Given the description of an element on the screen output the (x, y) to click on. 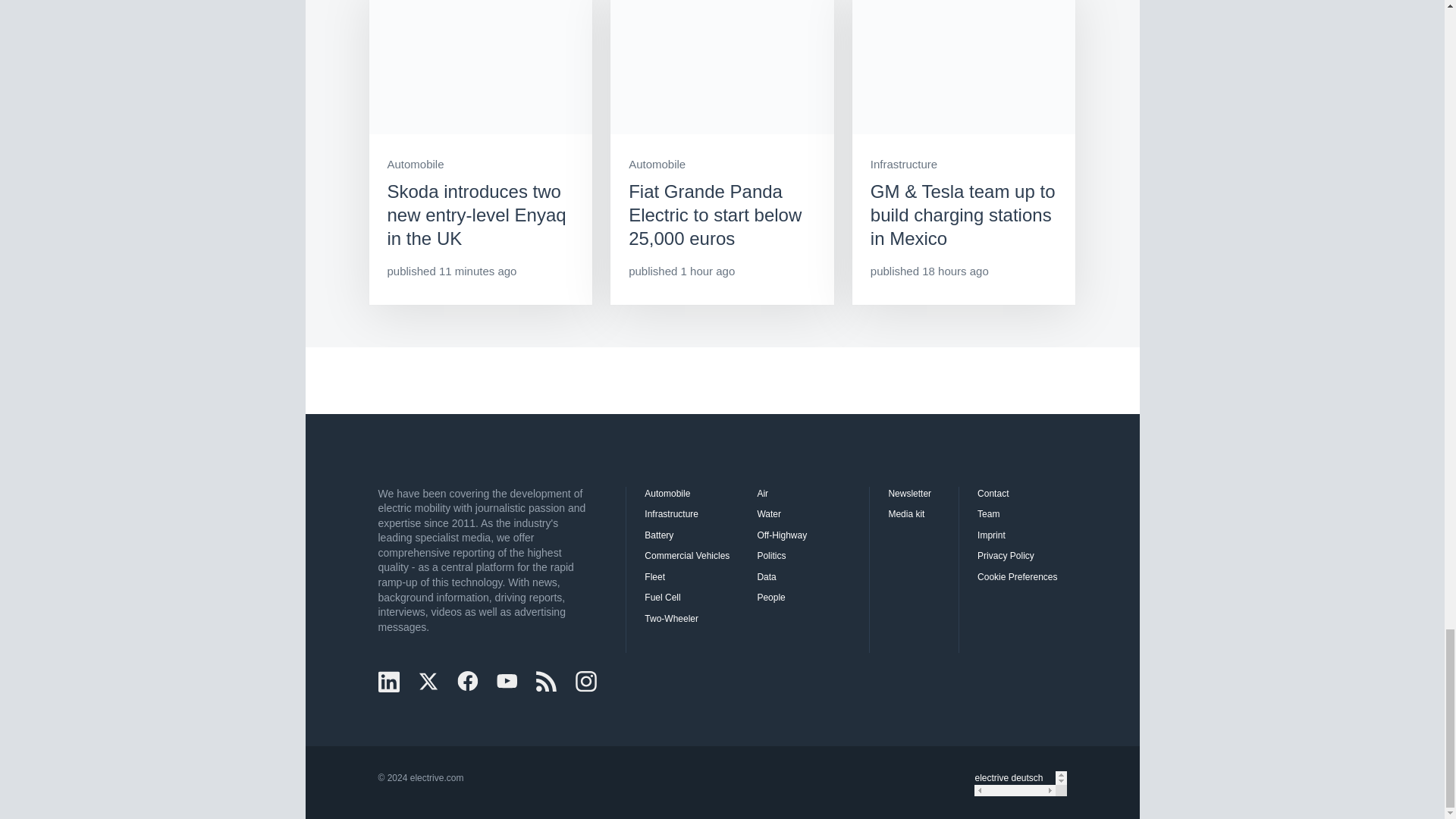
Skoda introduces two new entry-level Enyaq in the UK (480, 152)
electrive deutsch (1014, 778)
Fiat Grande Panda Electric to start below 25,000 euros (722, 152)
